Given the description of an element on the screen output the (x, y) to click on. 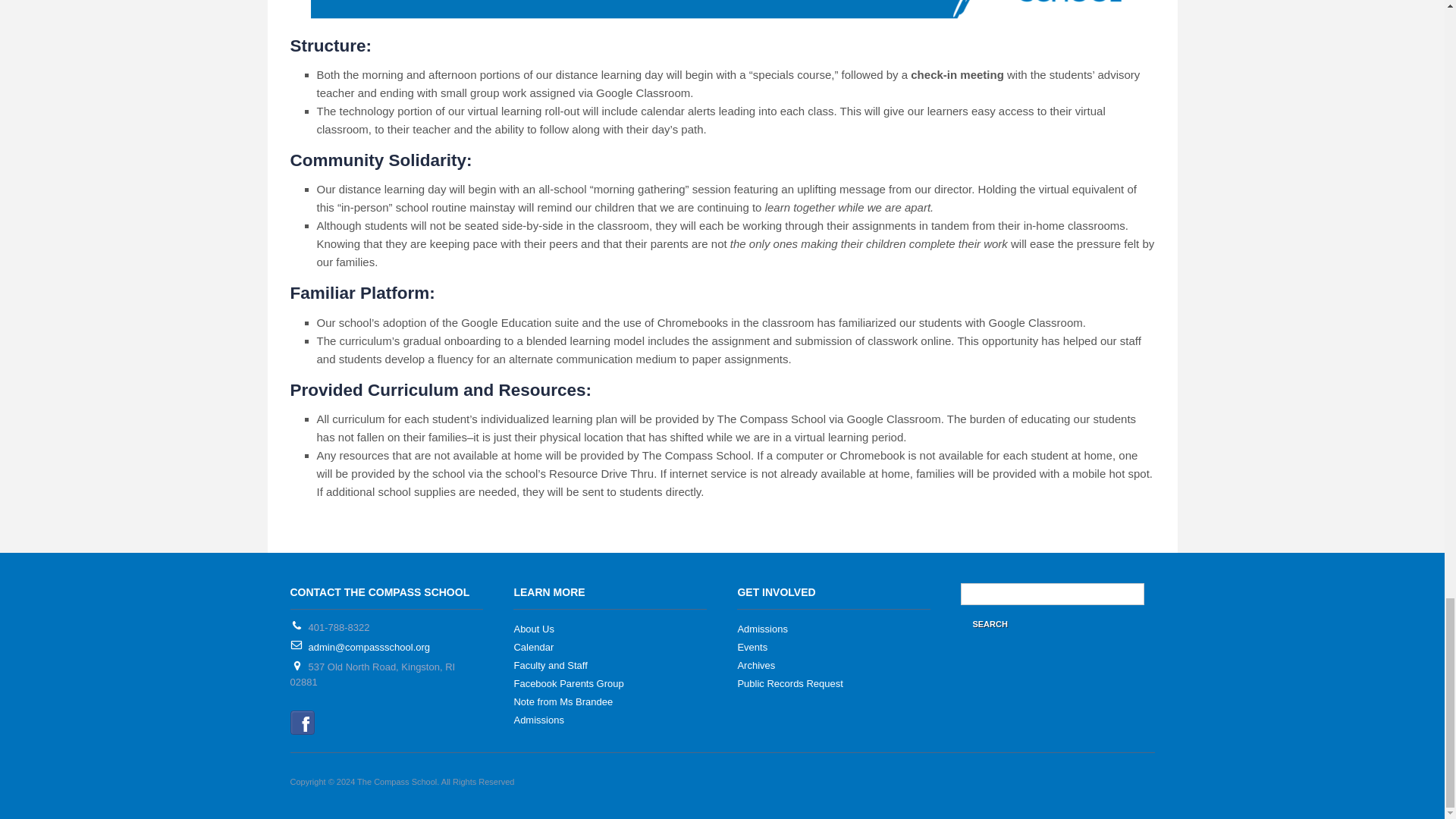
find us on Facebook (301, 721)
Search (988, 623)
